Given the description of an element on the screen output the (x, y) to click on. 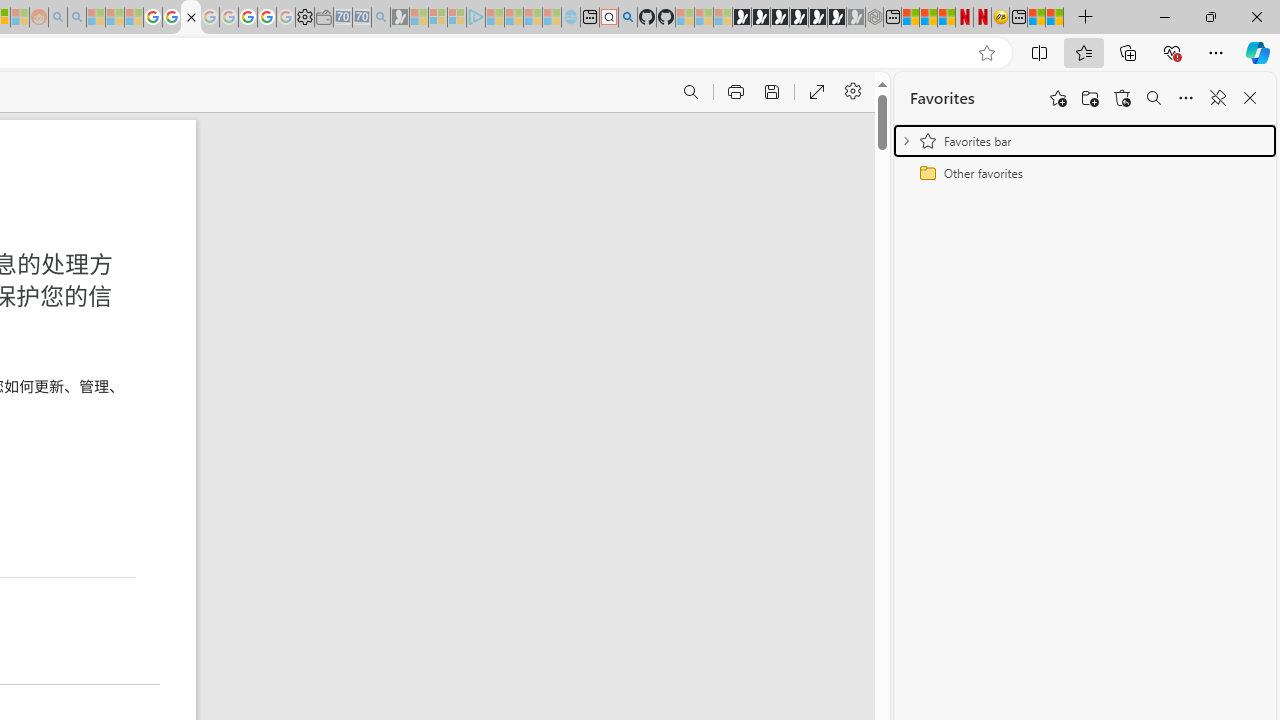
Find (Ctrl + F) (690, 92)
Unpin favorites (1217, 98)
Print (Ctrl+P) (734, 92)
